Given the description of an element on the screen output the (x, y) to click on. 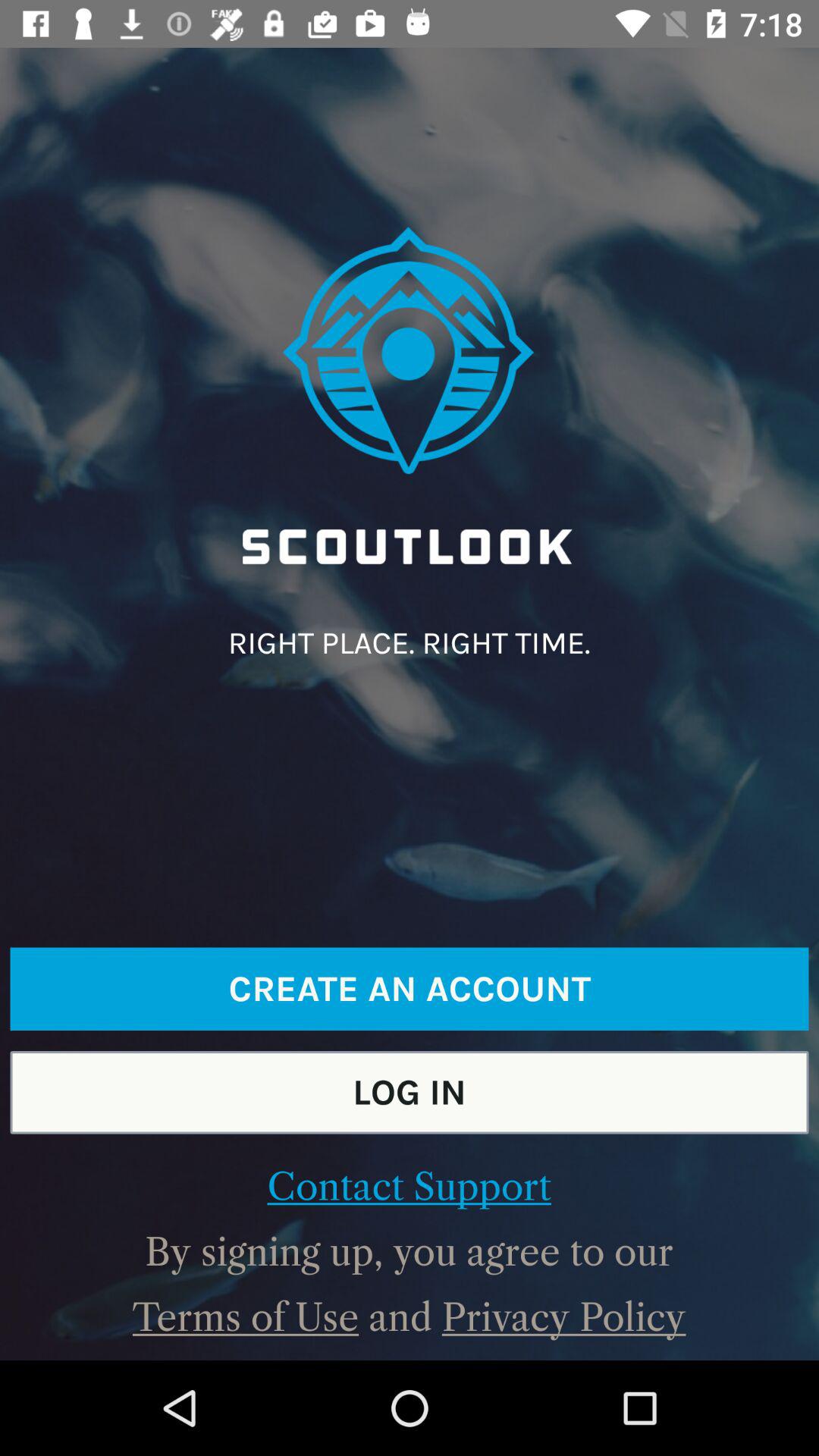
jump to the terms of use icon (245, 1317)
